Given the description of an element on the screen output the (x, y) to click on. 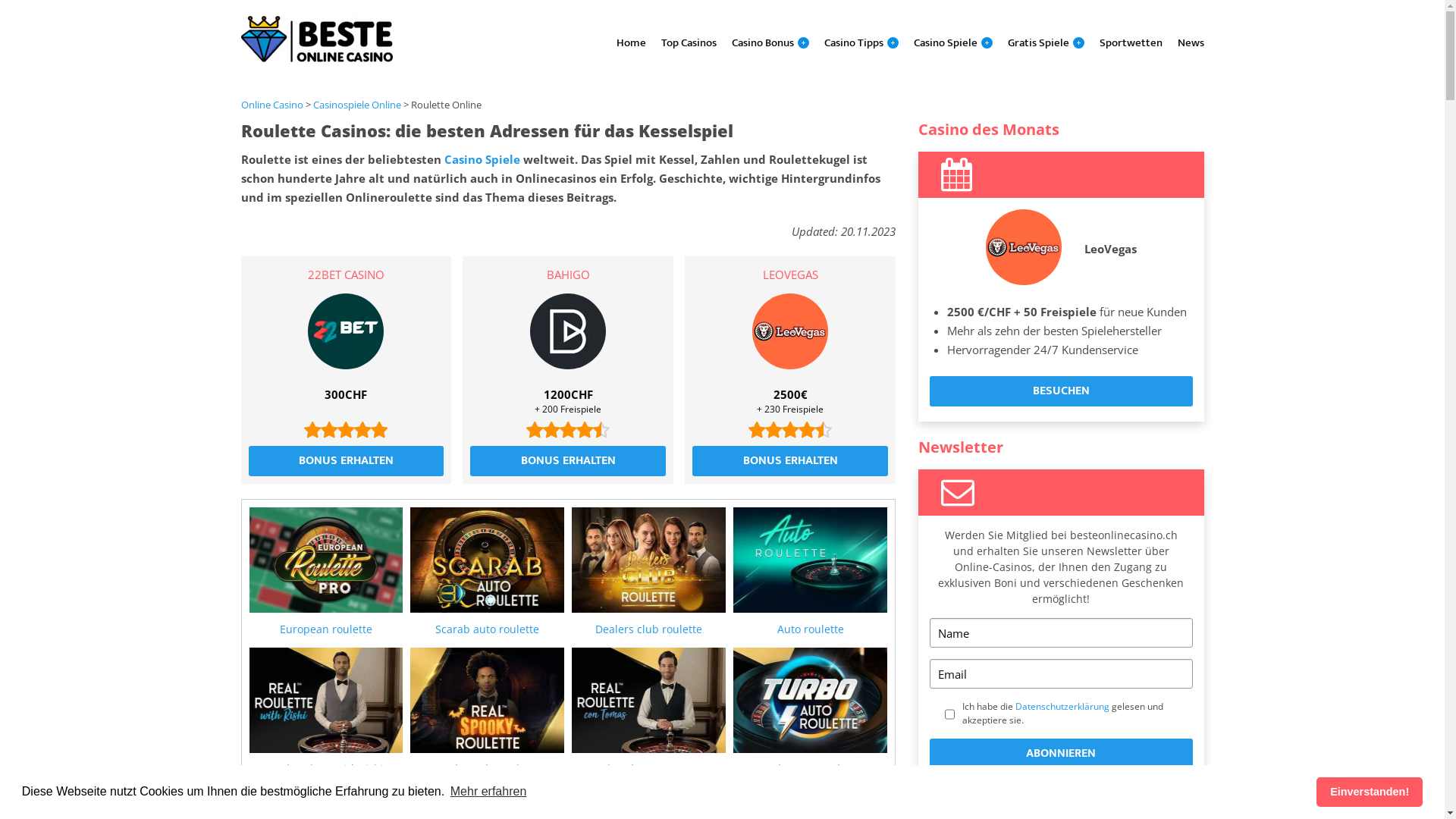
Auto roulette Element type: text (810, 571)
Dealers club roulette Element type: text (648, 571)
Casino Bonus Element type: text (762, 42)
European roulette Element type: text (325, 571)
BONUS ERHALTEN Element type: text (567, 460)
BONUS ERHALTEN Element type: text (346, 460)
LeoVegas Element type: text (1110, 249)
Real spooky roulette Element type: text (487, 711)
Gratis Spiele Element type: text (1037, 42)
Turbo auto roulette Element type: text (810, 711)
Einverstanden! Element type: text (1369, 791)
Scarab auto roulette Element type: text (487, 571)
22BET CASINO Element type: text (345, 274)
Online Casino Element type: text (272, 104)
BONUS ERHALTEN Element type: text (790, 460)
Top Casinos Element type: text (688, 42)
News Element type: text (1189, 42)
Real roulette con tomas Element type: text (648, 711)
Casino Tipps Element type: text (852, 42)
LEOVEGAS Element type: text (790, 274)
Casino Spiele Element type: text (944, 42)
BESUCHEN Element type: text (1060, 391)
Abonnieren Element type: text (1060, 753)
Roulette Online Element type: text (446, 104)
Home Element type: text (630, 42)
Mehr erfahren Element type: text (488, 791)
Sportwetten Element type: text (1130, 42)
Casinospiele Online Element type: text (356, 104)
BAHIGO Element type: text (567, 274)
Real roulette with rishi Element type: text (325, 711)
Casino Spiele Element type: text (482, 158)
